Given the description of an element on the screen output the (x, y) to click on. 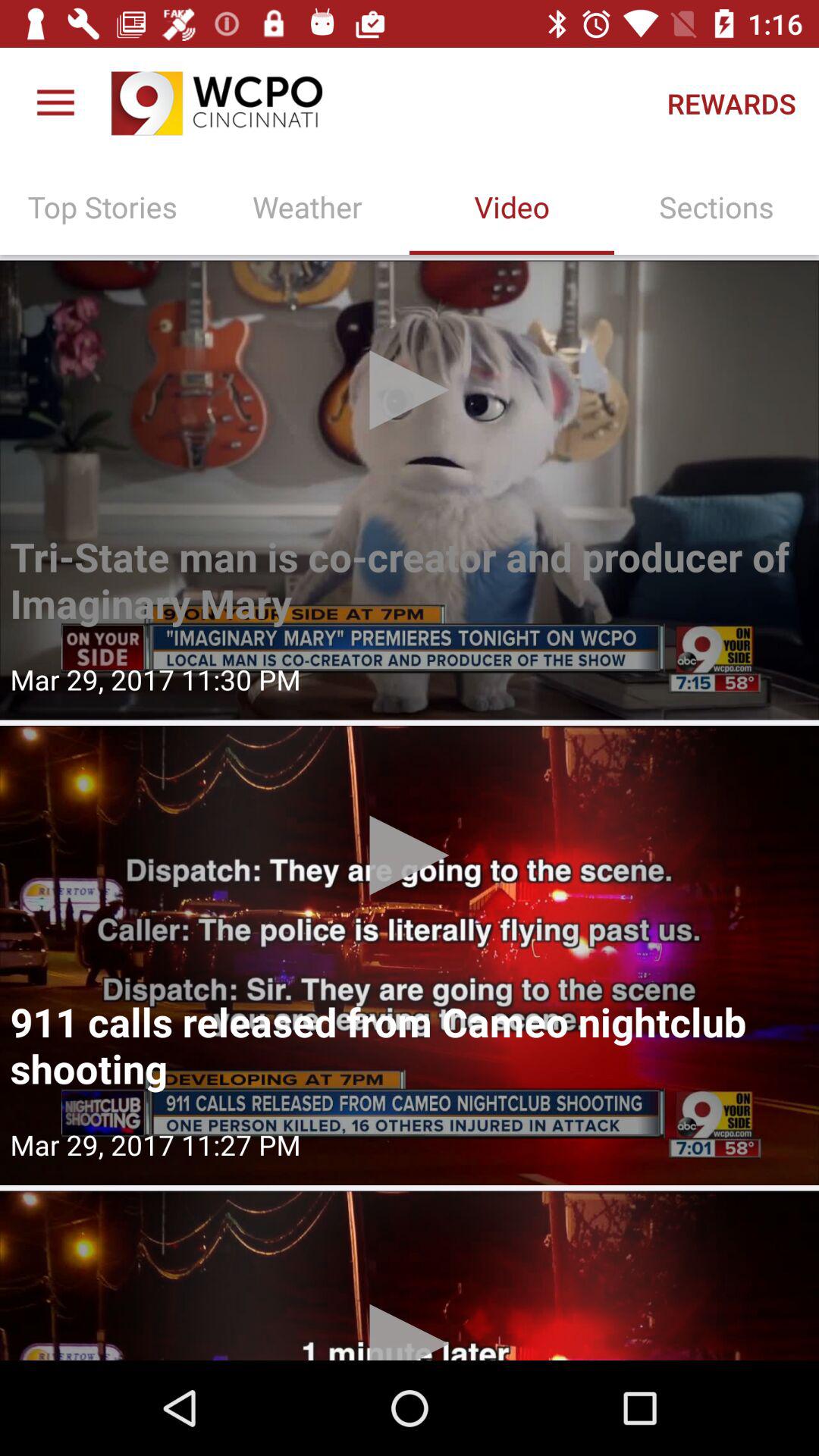
select video (409, 1275)
